Given the description of an element on the screen output the (x, y) to click on. 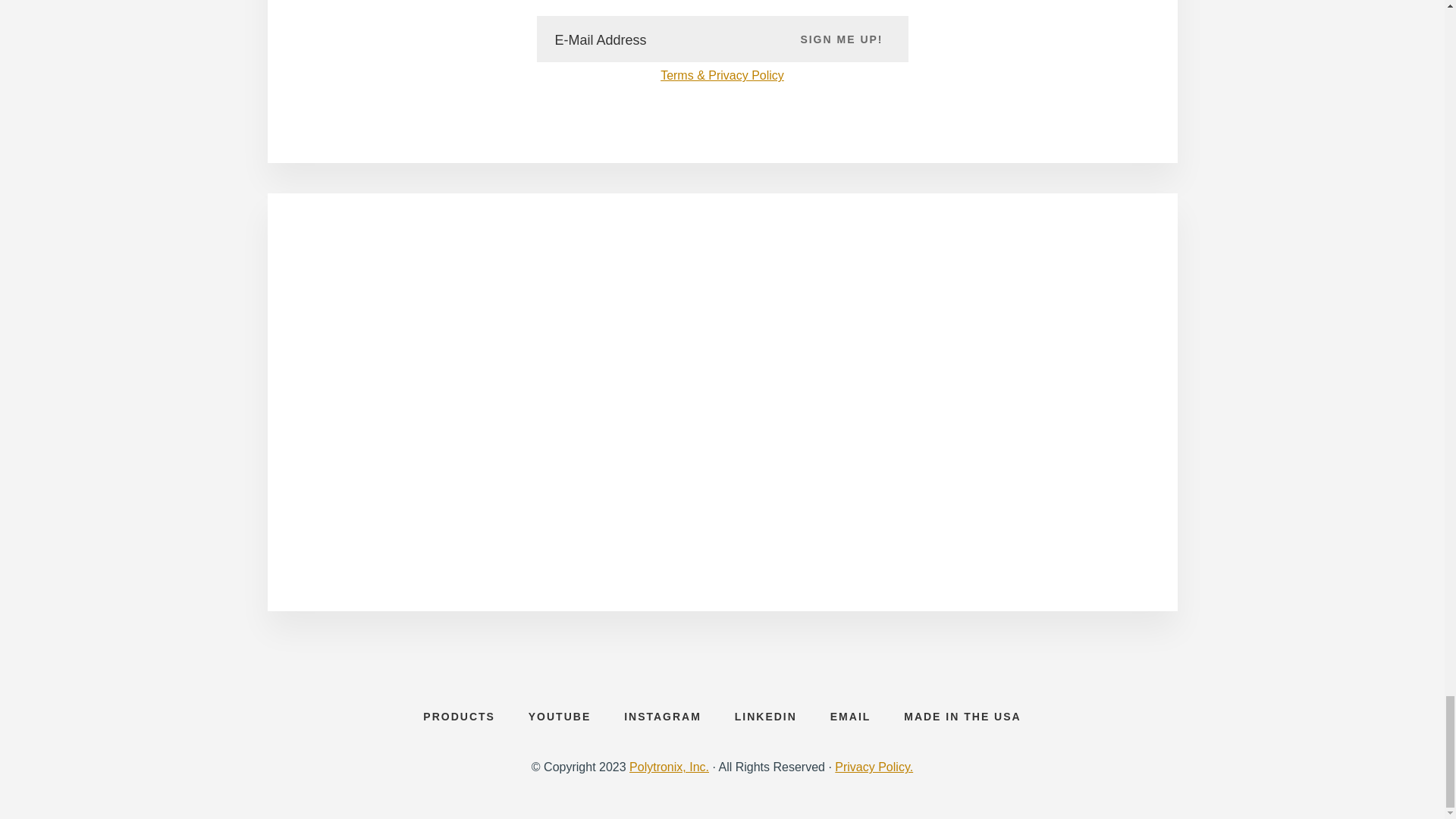
UL962 (918, 501)
Sign Me Up! (841, 38)
